Given the description of an element on the screen output the (x, y) to click on. 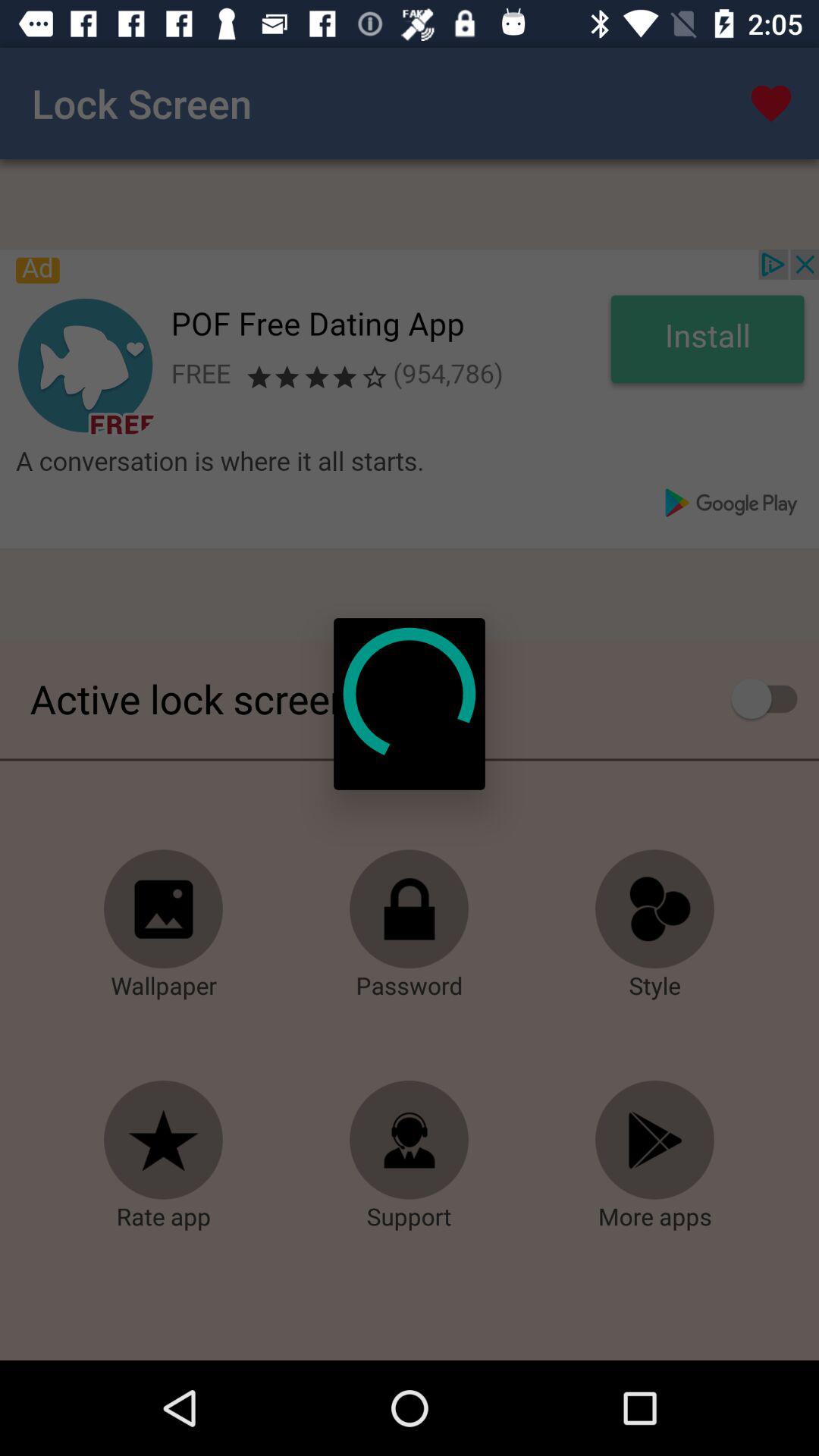
changes the style of the lock screen (654, 909)
